Given the description of an element on the screen output the (x, y) to click on. 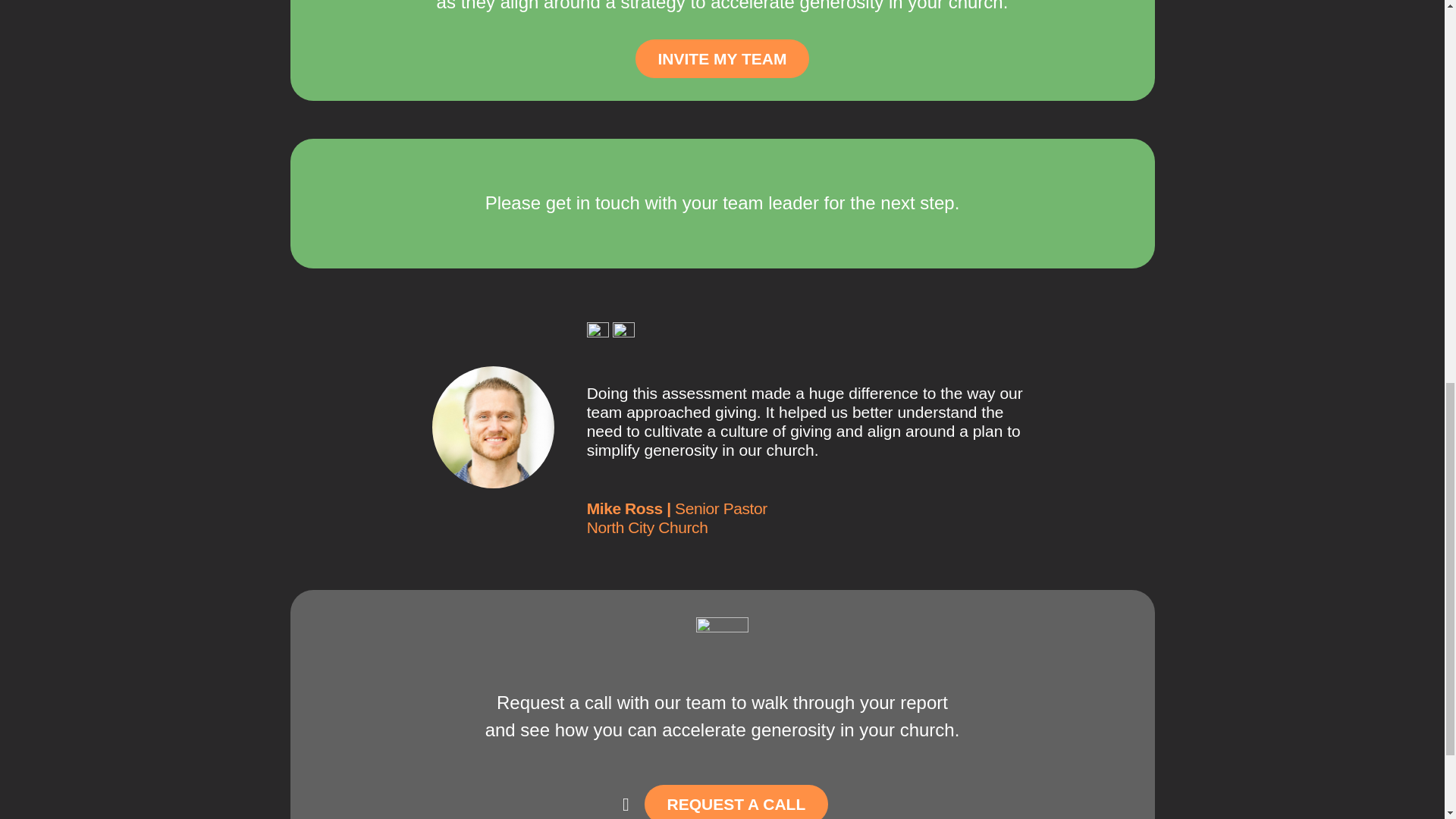
INVITE MY TEAM (721, 58)
REQUEST A CALL (736, 801)
